Given the description of an element on the screen output the (x, y) to click on. 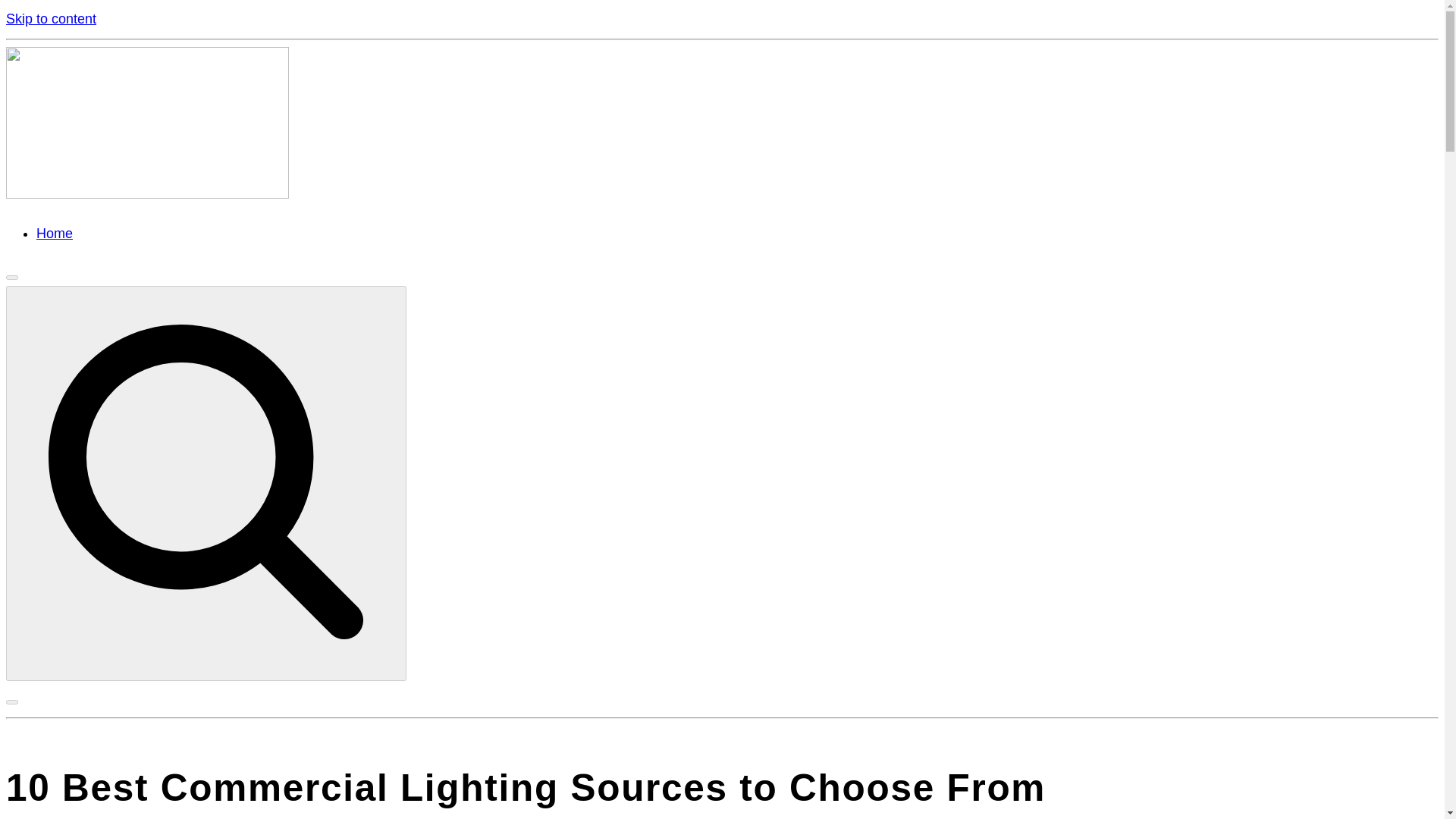
Home (54, 233)
Skip to content (50, 18)
